Given the description of an element on the screen output the (x, y) to click on. 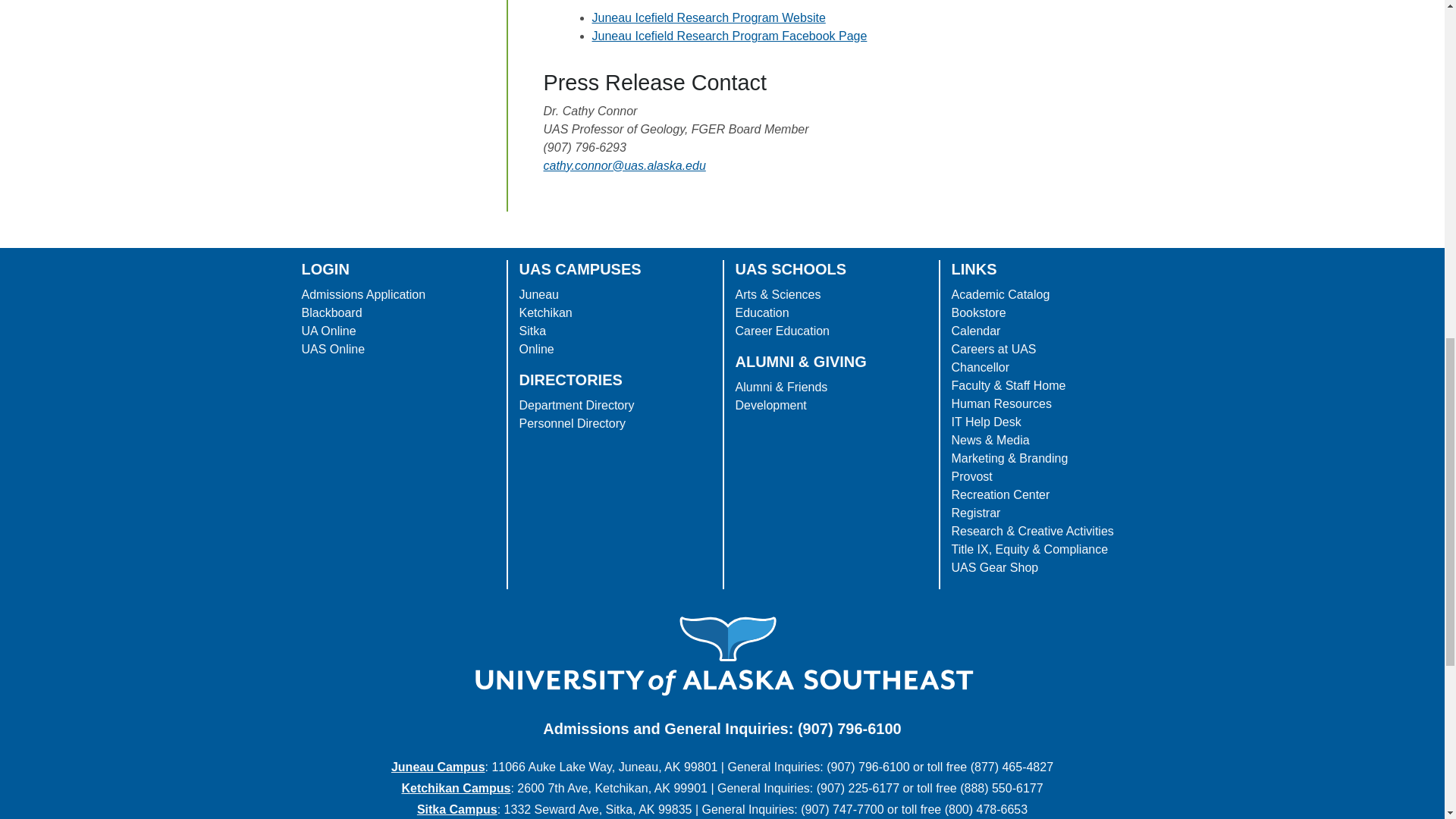
Development (770, 404)
Calendar (975, 330)
Ketchikan (545, 312)
Registrar (975, 512)
Education (762, 312)
Sitka (532, 330)
UAS Gear Shop (994, 567)
Human Resources (1000, 403)
Department Directory (575, 404)
Blackboard (331, 312)
Career Education (782, 330)
Provost (970, 476)
Ketchikan Campus (456, 788)
Juneau (538, 294)
Chancellor (979, 367)
